Given the description of an element on the screen output the (x, y) to click on. 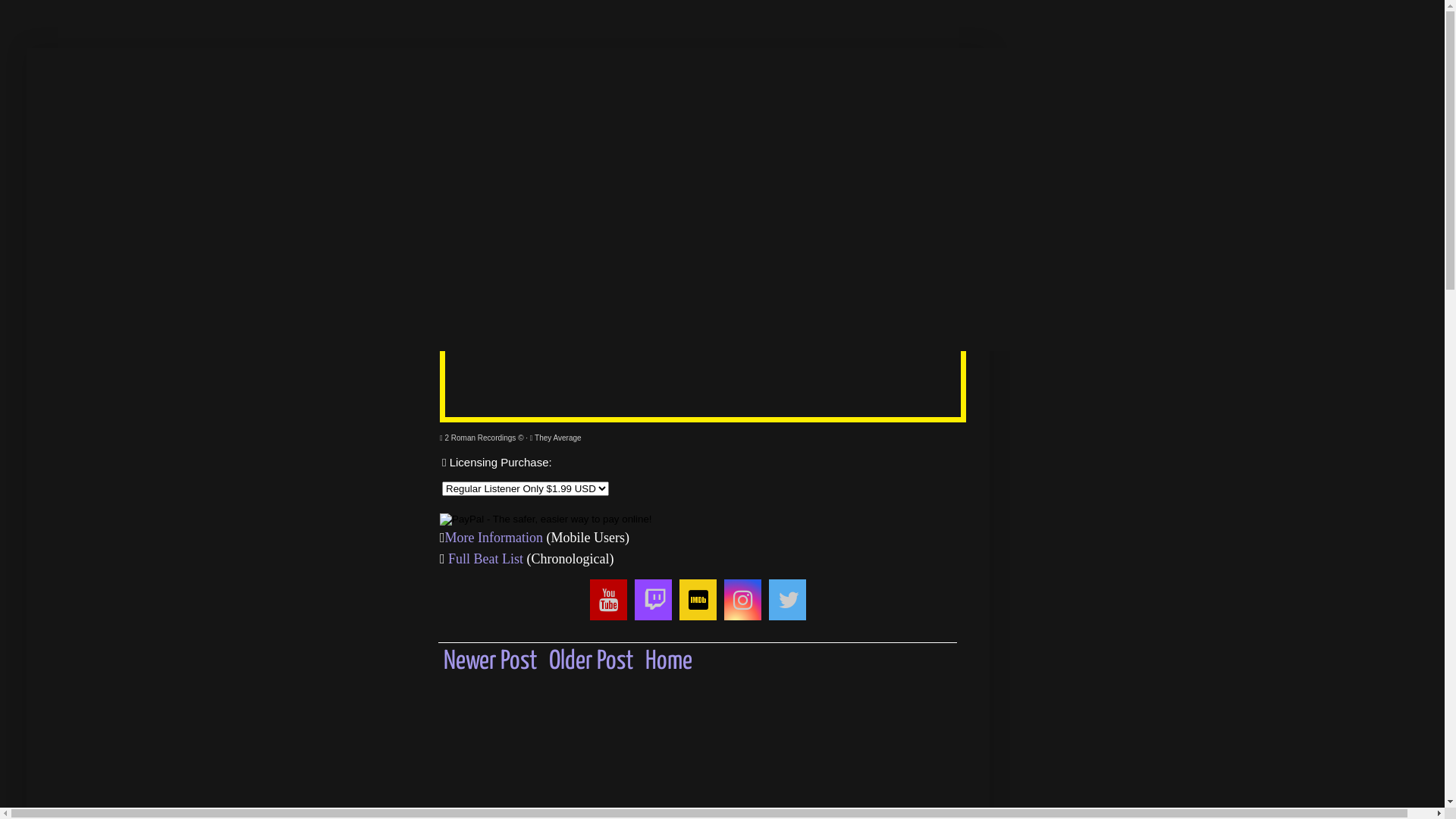
More Information Element type: text (495, 537)
Newer Post Element type: text (489, 661)
About Me Element type: text (186, 237)
Older Post Element type: text (591, 661)
Home Element type: text (95, 237)
Discography Element type: text (377, 237)
iMDB Element type: text (276, 237)
How To Purchase Element type: text (520, 237)
Home Element type: text (668, 661)
Full Beat List Element type: text (485, 558)
Contact Information Element type: text (864, 237)
Terms & Conditions Element type: text (687, 237)
